Given the description of an element on the screen output the (x, y) to click on. 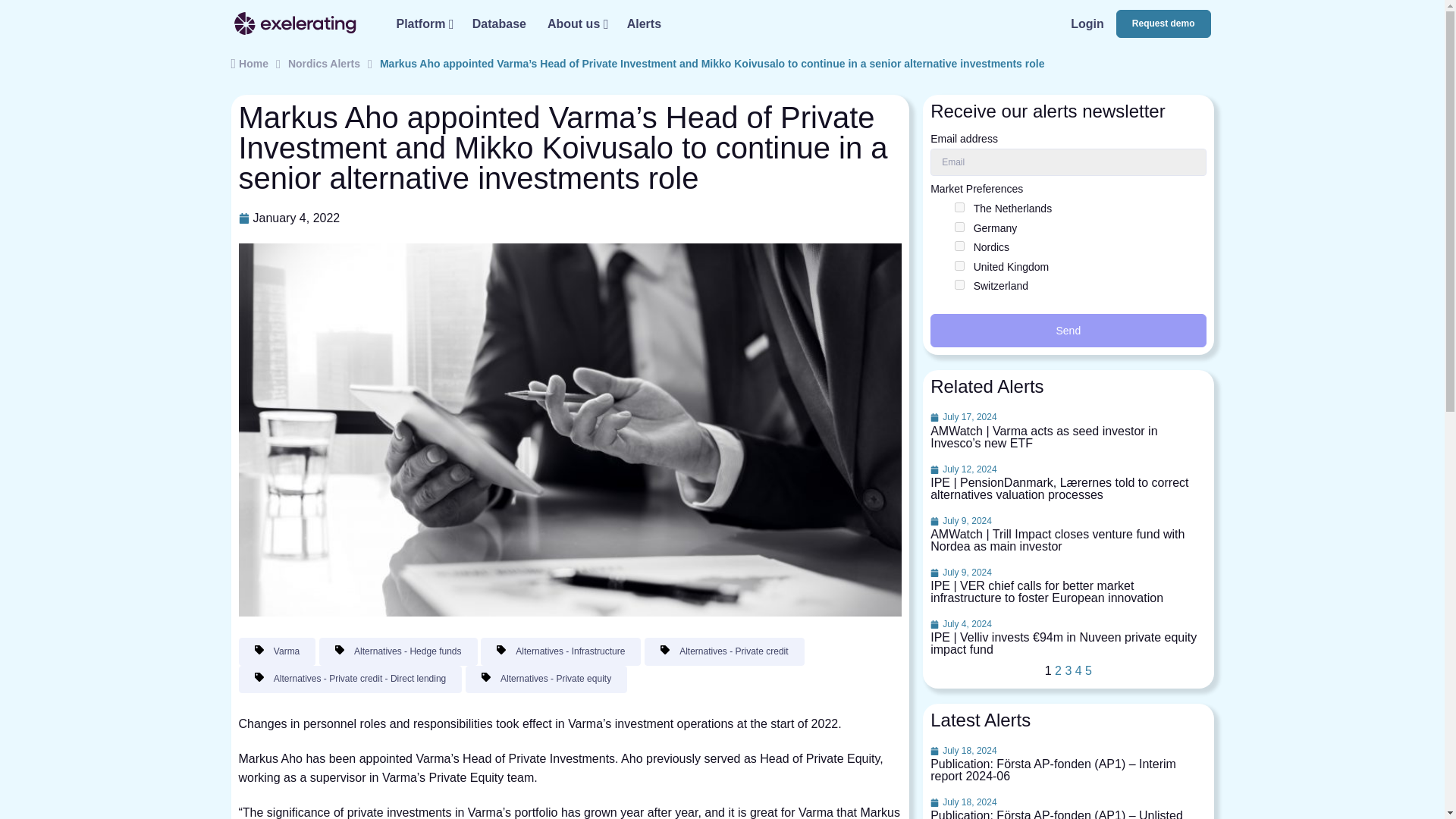
Nordics Alerts (323, 63)
Platform (423, 23)
8 (959, 226)
4 (1078, 670)
Send (1067, 330)
Login (1087, 23)
Alerts (643, 23)
2 (1057, 670)
Database (499, 23)
Alerts (643, 23)
  Alternatives - Private equity (546, 678)
4 (959, 245)
  Varma (276, 651)
About us (576, 23)
About us (576, 23)
